Given the description of an element on the screen output the (x, y) to click on. 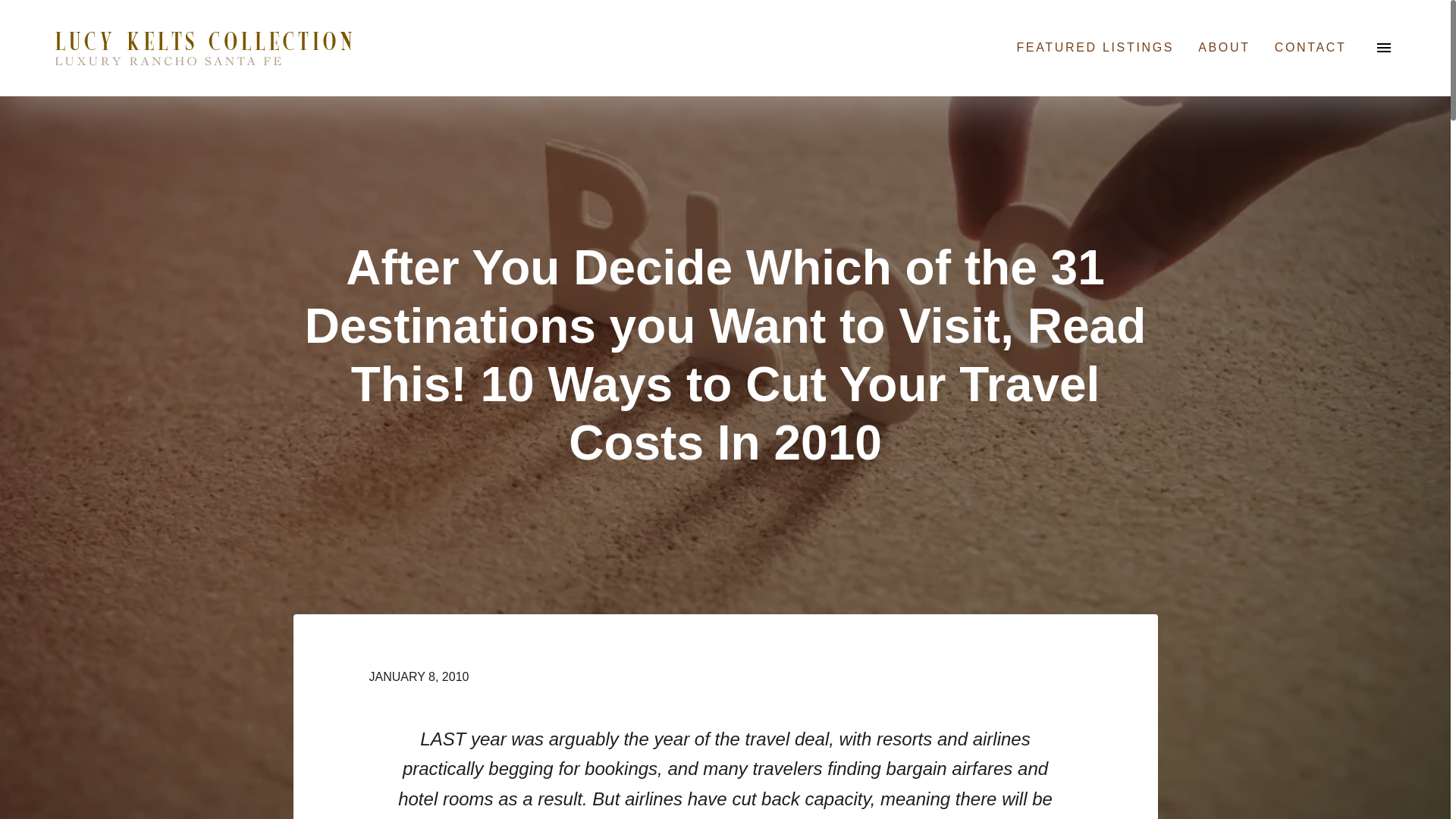
CONTACT (1310, 47)
ABOUT (1223, 47)
FEATURED LISTINGS (1094, 47)
